Given the description of an element on the screen output the (x, y) to click on. 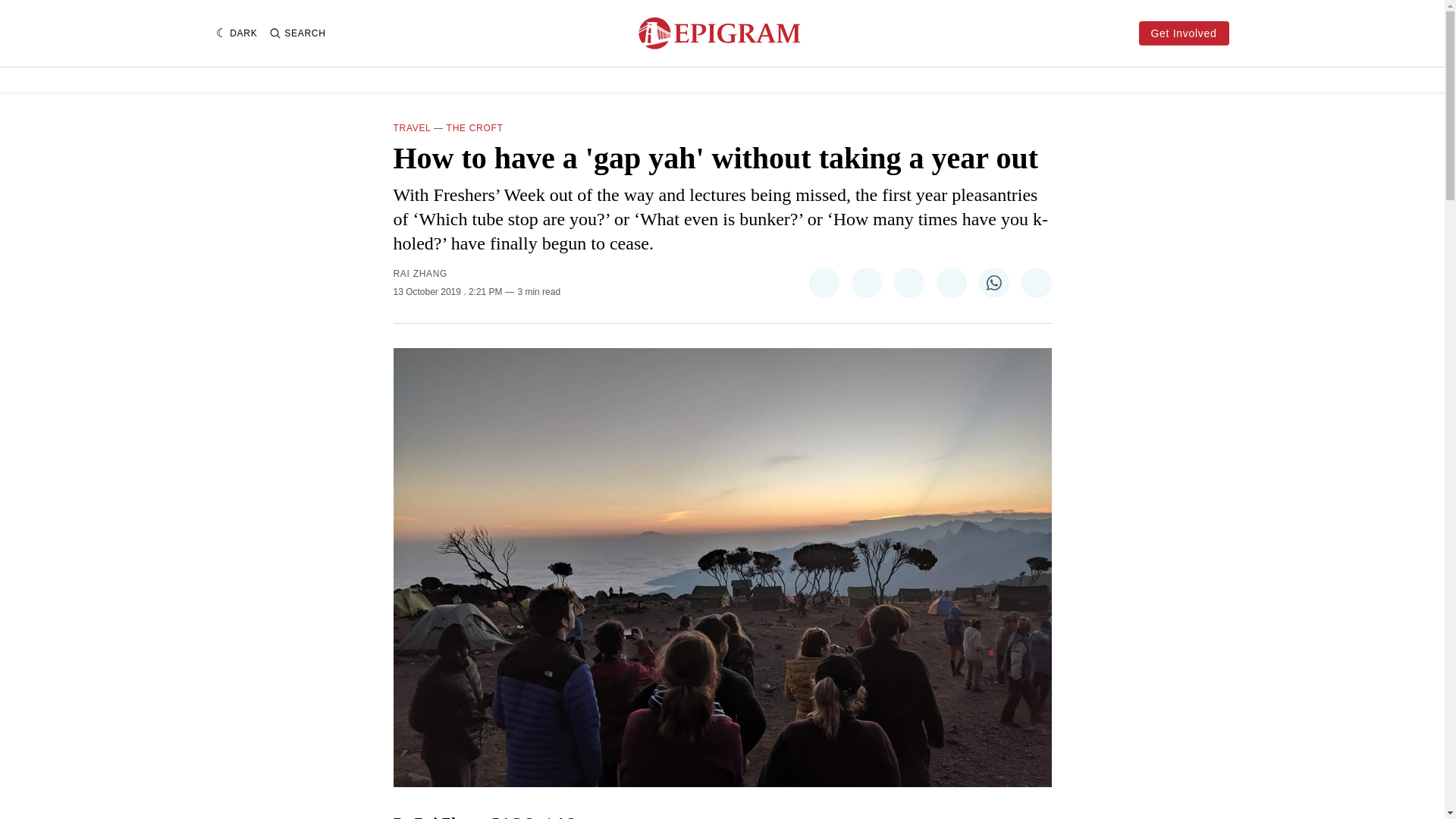
DARK (236, 32)
SEARCH (296, 33)
RAI ZHANG (419, 273)
Share on Pinterest (908, 282)
Share on LinkedIn (951, 282)
Get Involved (1183, 33)
Share via Email (1035, 282)
Share on Facebook (865, 282)
Share on WhatsApp (993, 282)
TRAVEL (411, 127)
